Given the description of an element on the screen output the (x, y) to click on. 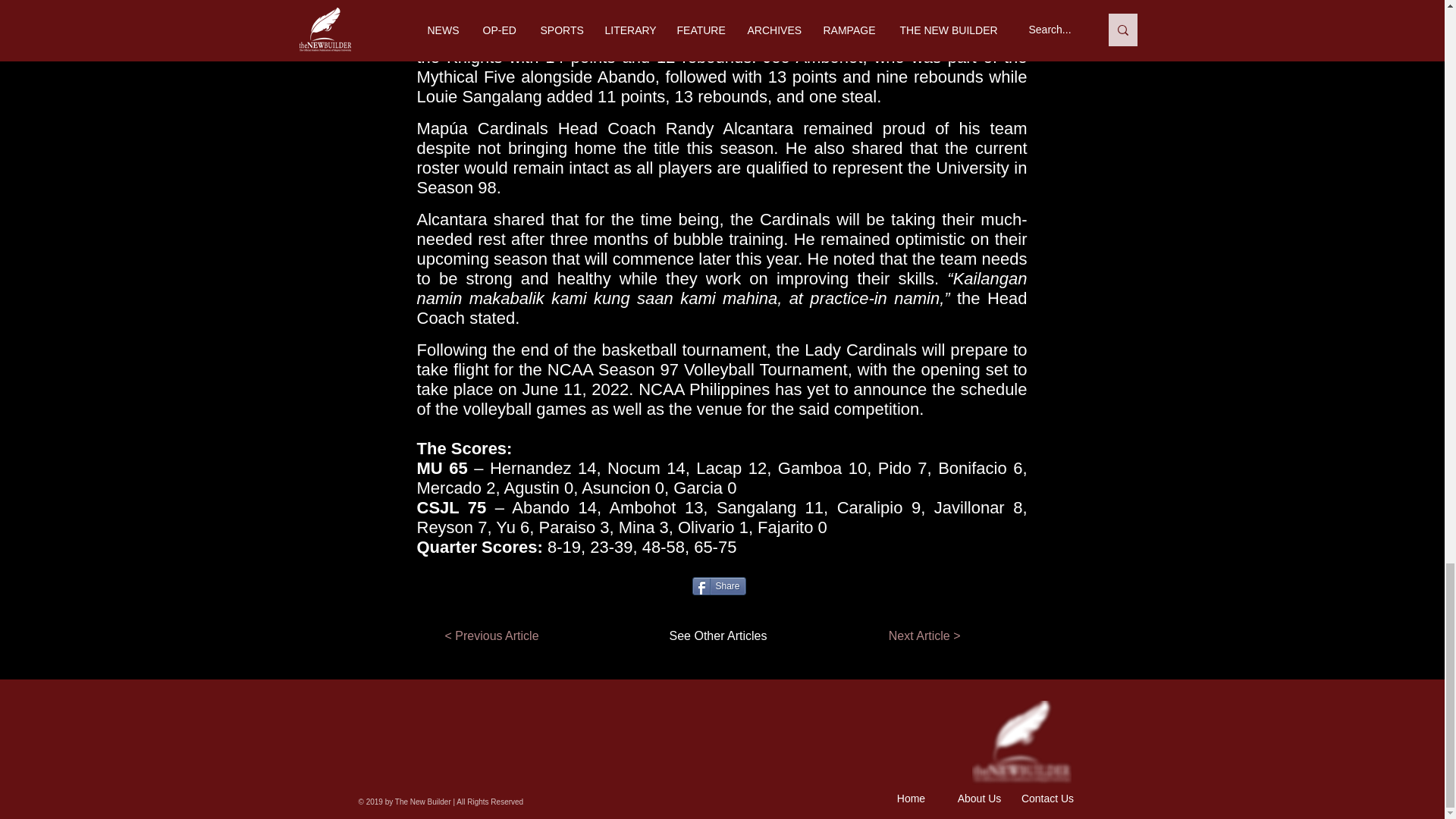
Share (718, 586)
About Us (979, 798)
See Other Articles (702, 635)
LOGOWEB.png (1021, 742)
Share (718, 586)
Home (910, 798)
